Given the description of an element on the screen output the (x, y) to click on. 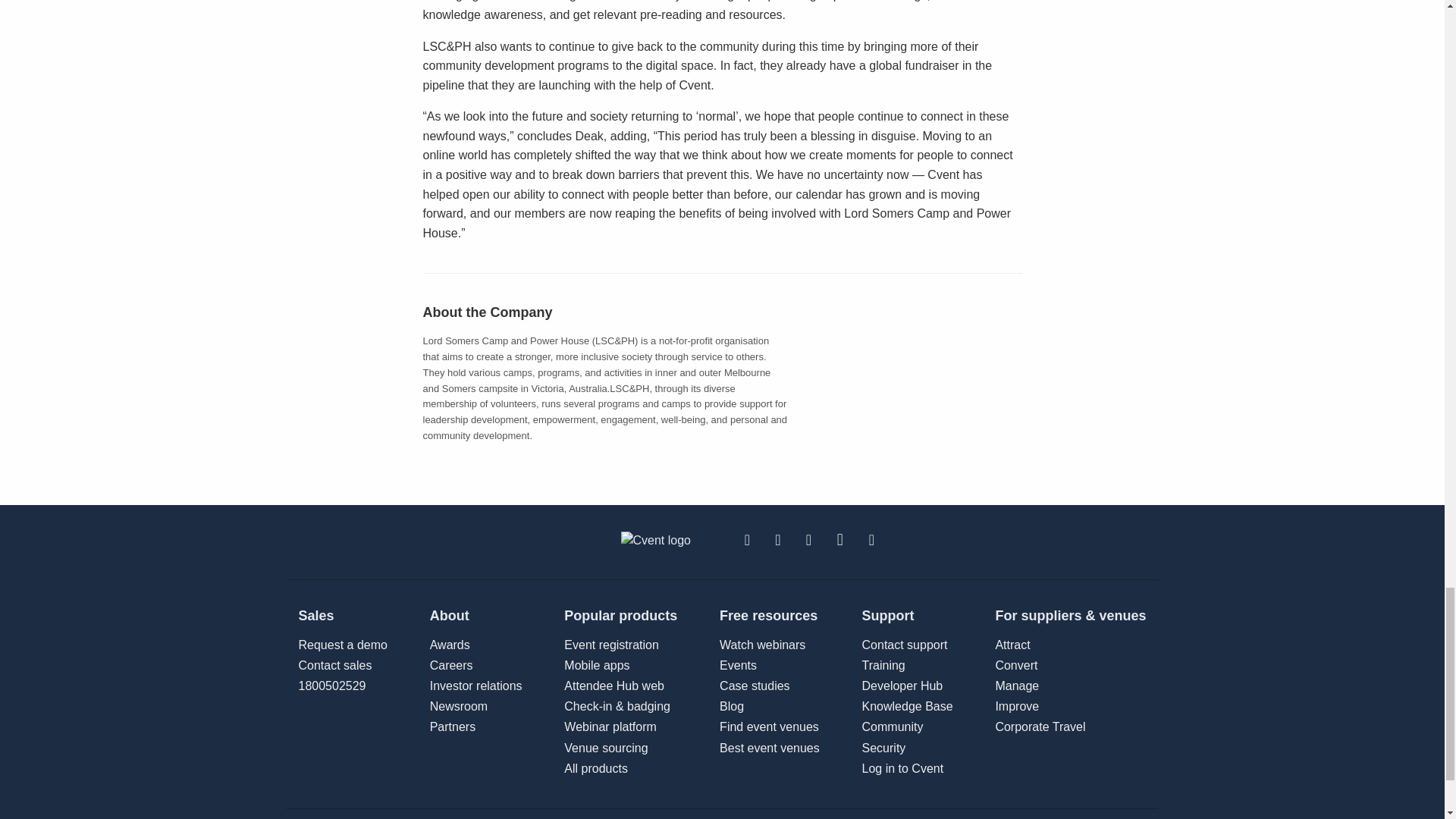
Sales (342, 615)
Popular products (620, 615)
Partners (883, 665)
